Given the description of an element on the screen output the (x, y) to click on. 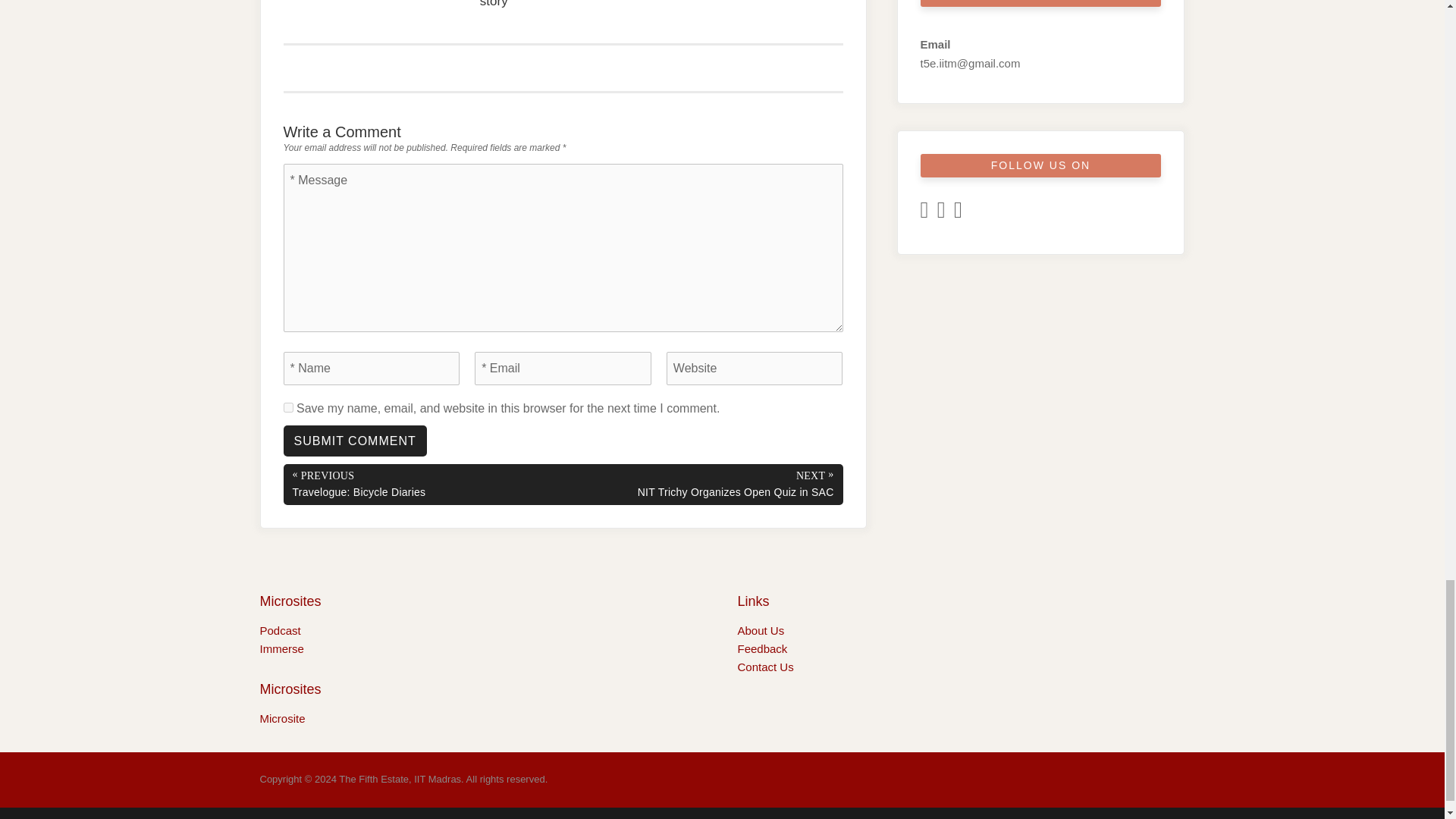
yes (288, 407)
Submit Comment (354, 440)
